Given the description of an element on the screen output the (x, y) to click on. 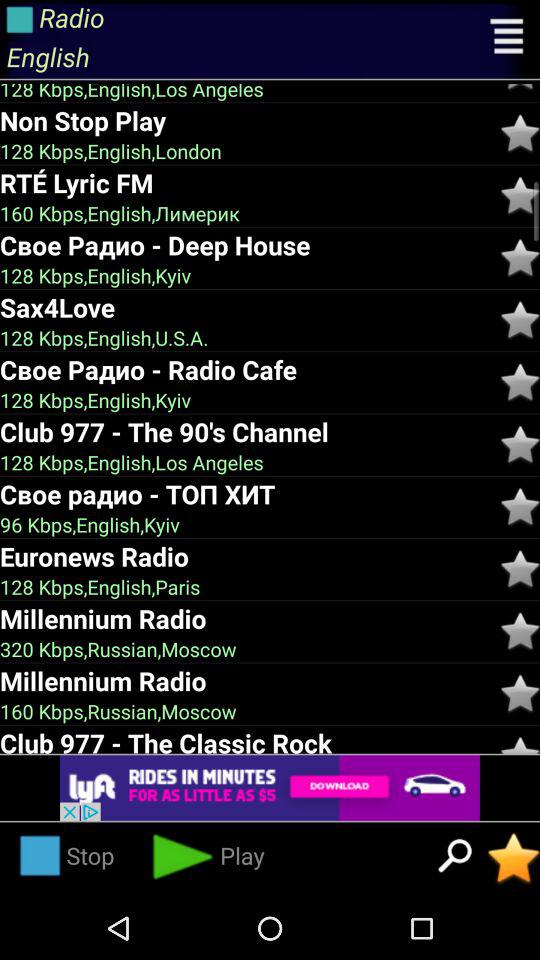
important (520, 569)
